Given the description of an element on the screen output the (x, y) to click on. 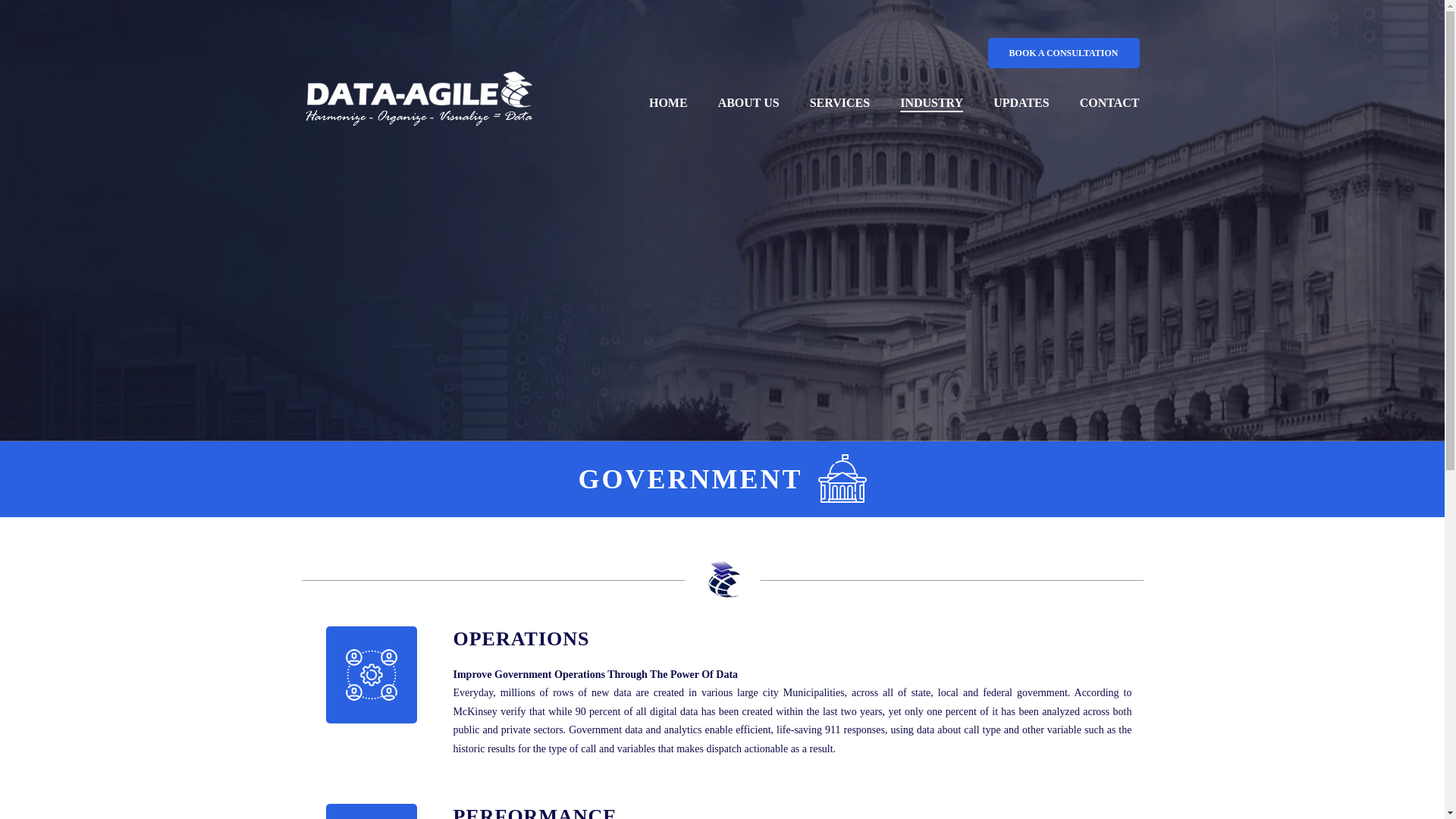
ABOUT US (748, 103)
ABOUT US (748, 103)
CONTACT (1109, 103)
UPDATES (1021, 103)
UPDATES (1021, 103)
SERVICES (839, 103)
HOME (668, 103)
HOME (668, 103)
CONTACT (1109, 103)
INDUSTRY (931, 103)
INDUSTRY (931, 103)
SERVICES (839, 103)
BOOK A CONSULTATION (1062, 52)
